Given the description of an element on the screen output the (x, y) to click on. 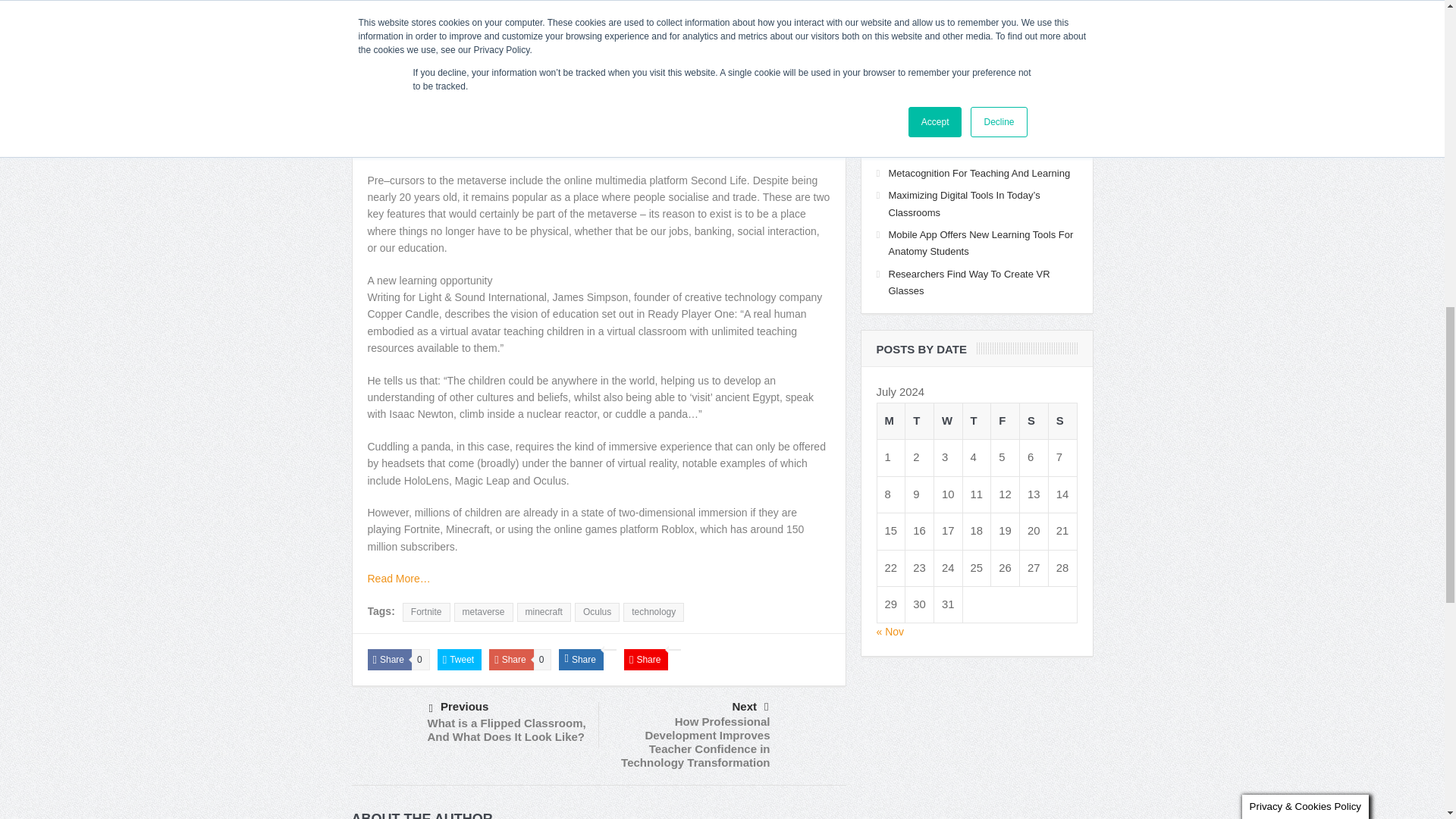
Wednesday (947, 420)
Monday (890, 420)
Form 1 (976, 22)
Saturday (1034, 420)
Sunday (1062, 420)
Tuesday (919, 420)
Friday (1005, 420)
Thursday (976, 420)
